Given the description of an element on the screen output the (x, y) to click on. 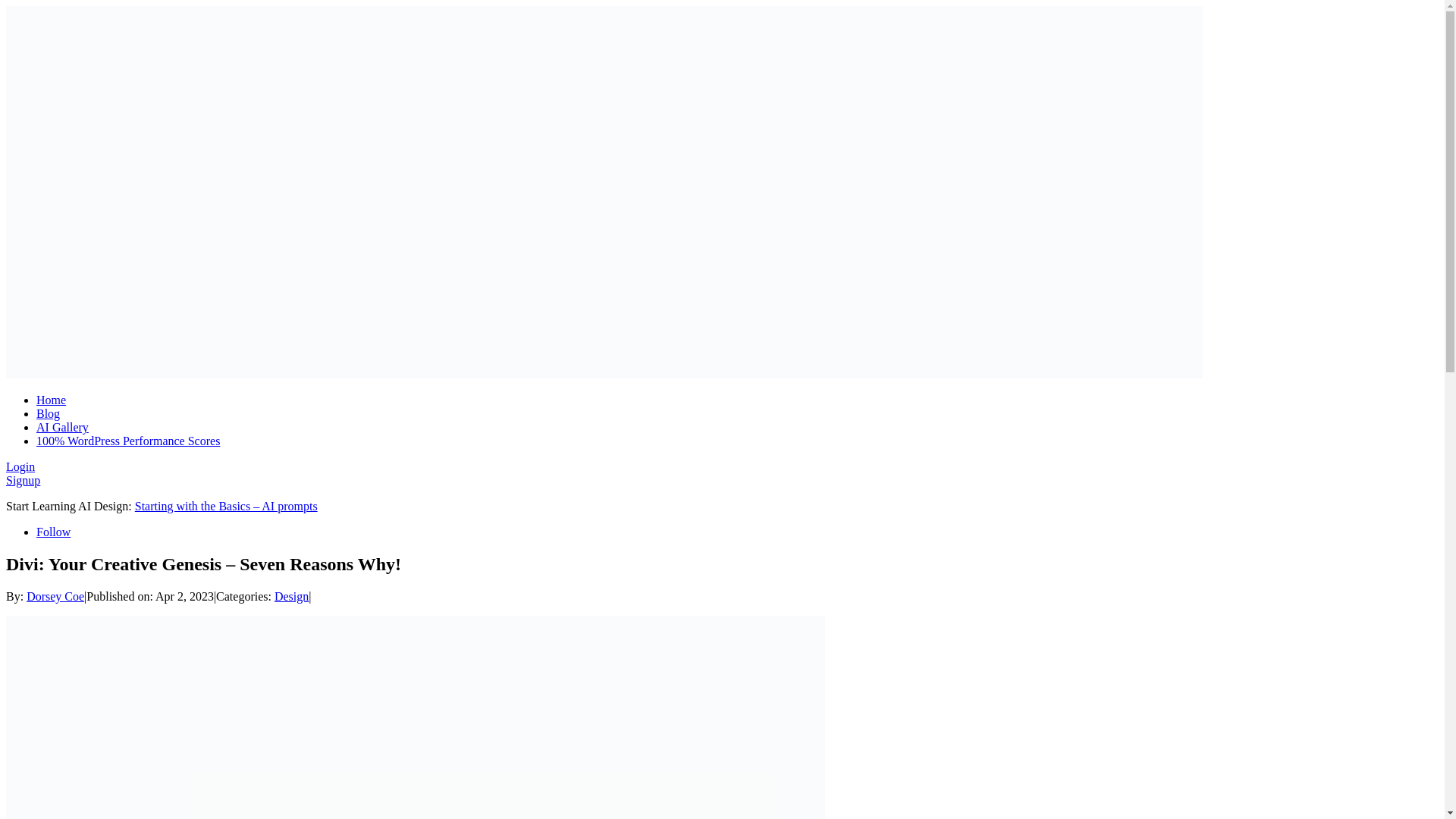
Signup (22, 480)
Home (50, 399)
Dorsey Coe (55, 595)
AI Gallery (62, 427)
Follow (52, 531)
Design (291, 595)
Login (19, 466)
Follow on Youtube (52, 531)
Blog (47, 413)
Posts by Dorsey Coe (55, 595)
